Given the description of an element on the screen output the (x, y) to click on. 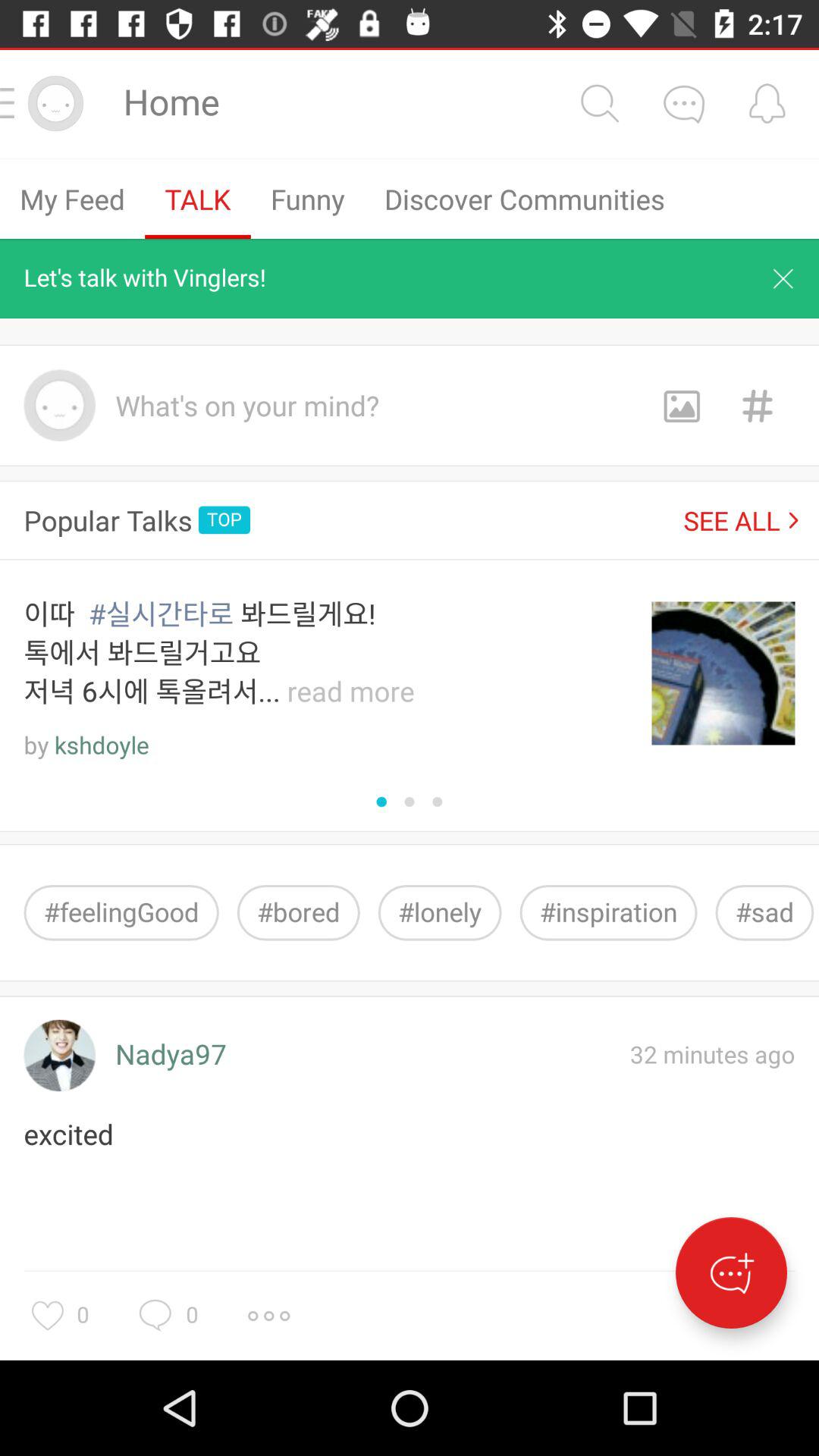
start a search (599, 103)
